Given the description of an element on the screen output the (x, y) to click on. 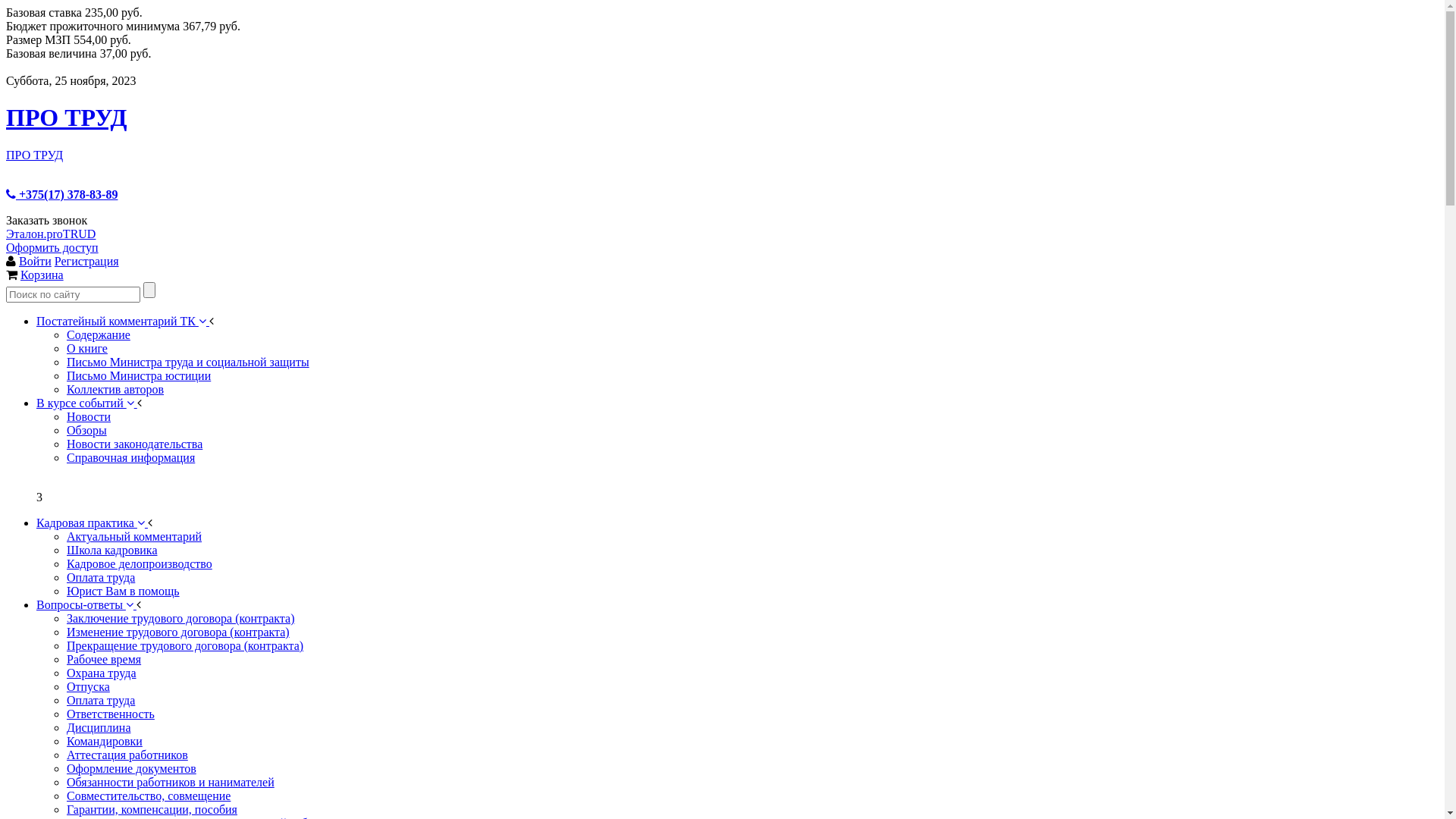
+375(17) 378-83-89 Element type: text (61, 194)
